Given the description of an element on the screen output the (x, y) to click on. 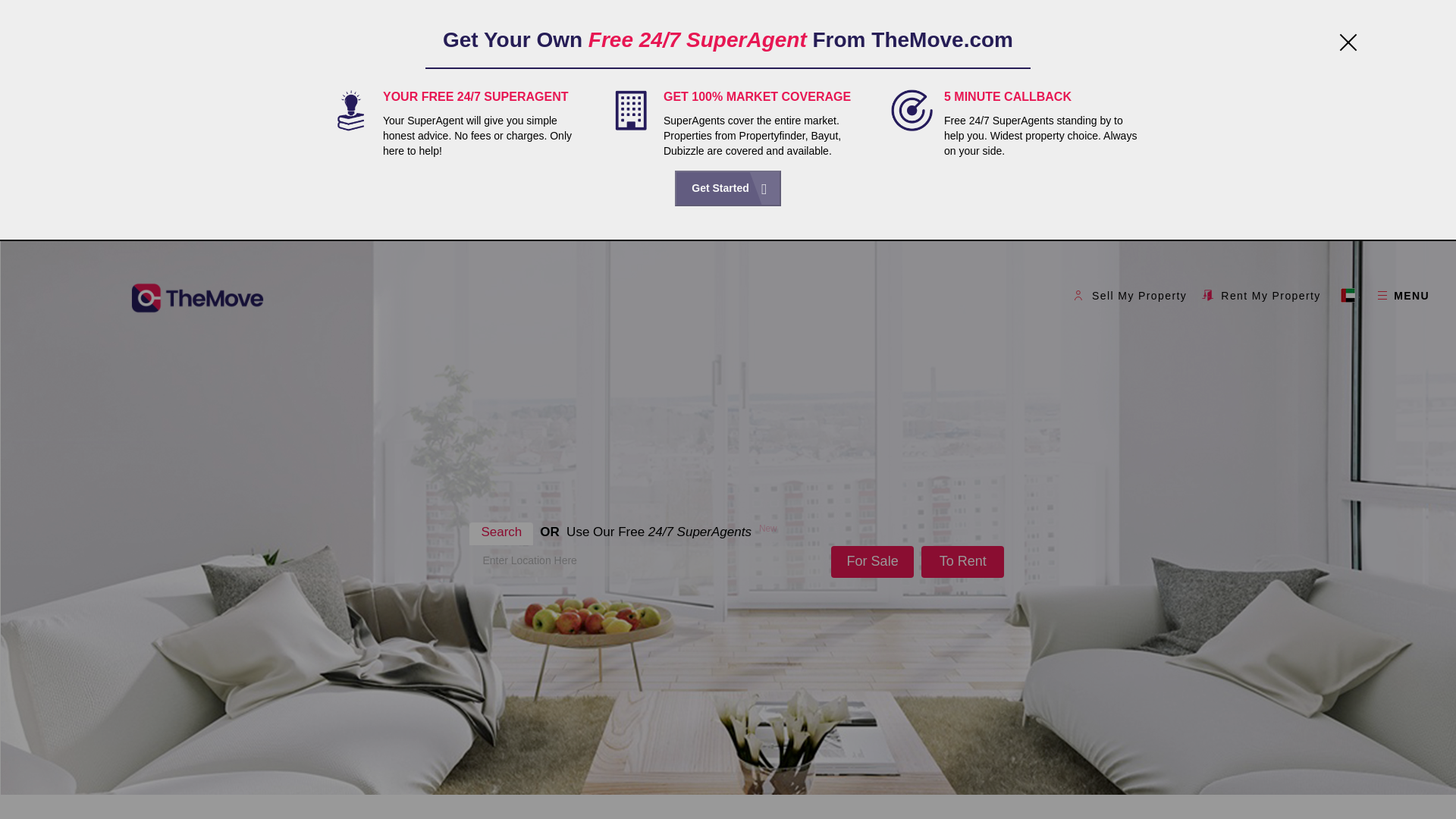
Sell My Property (1130, 295)
Dubai (1351, 296)
Search (500, 533)
Close (1344, 46)
 Rent My Property (1260, 295)
Get Started (727, 188)
To Rent (962, 562)
MENU (1402, 295)
For Sale (872, 562)
